Given the description of an element on the screen output the (x, y) to click on. 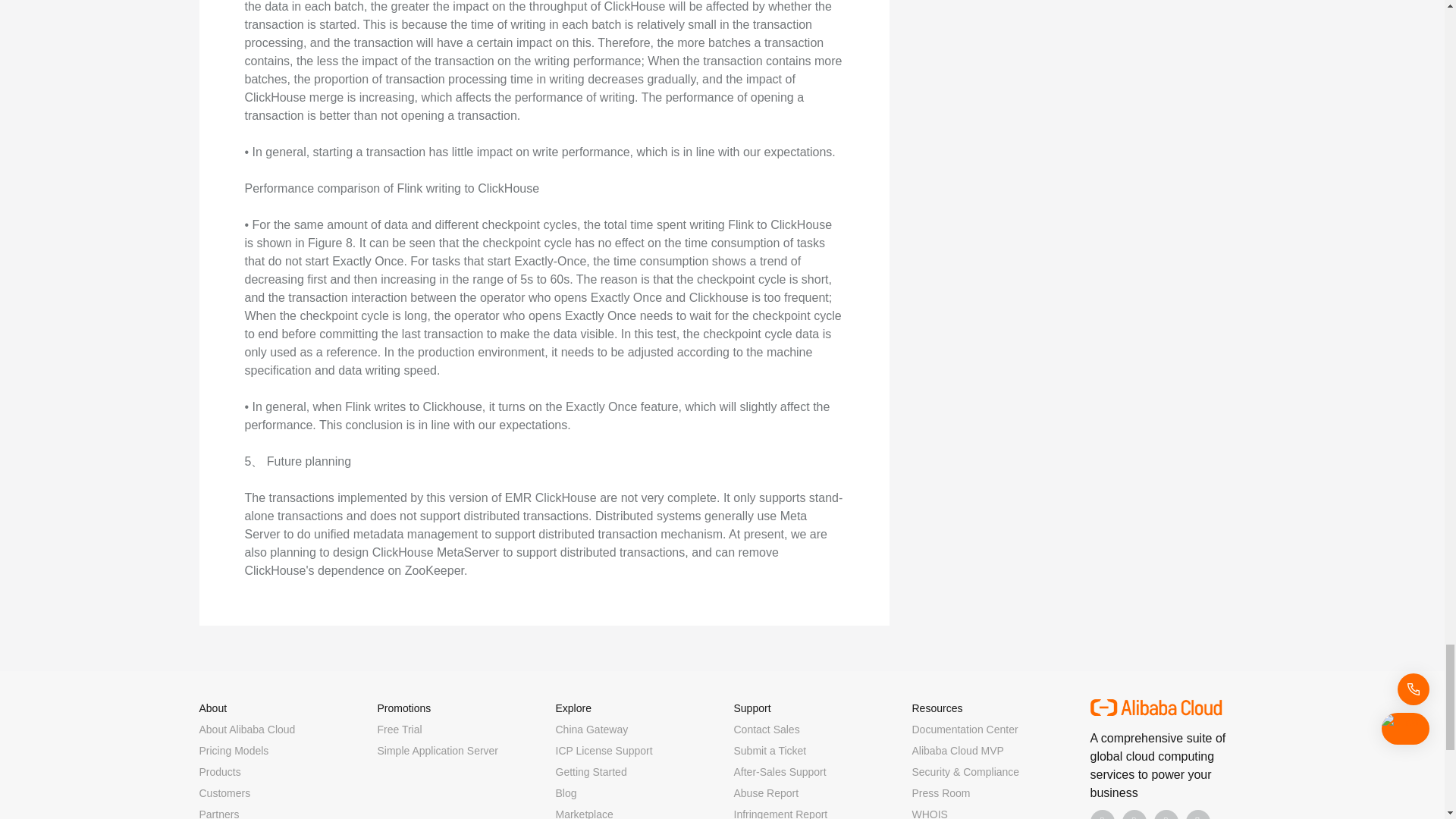
Linkedin (1134, 814)
YouTube (1197, 814)
Facebook (1102, 814)
Twitter (1165, 814)
